Given the description of an element on the screen output the (x, y) to click on. 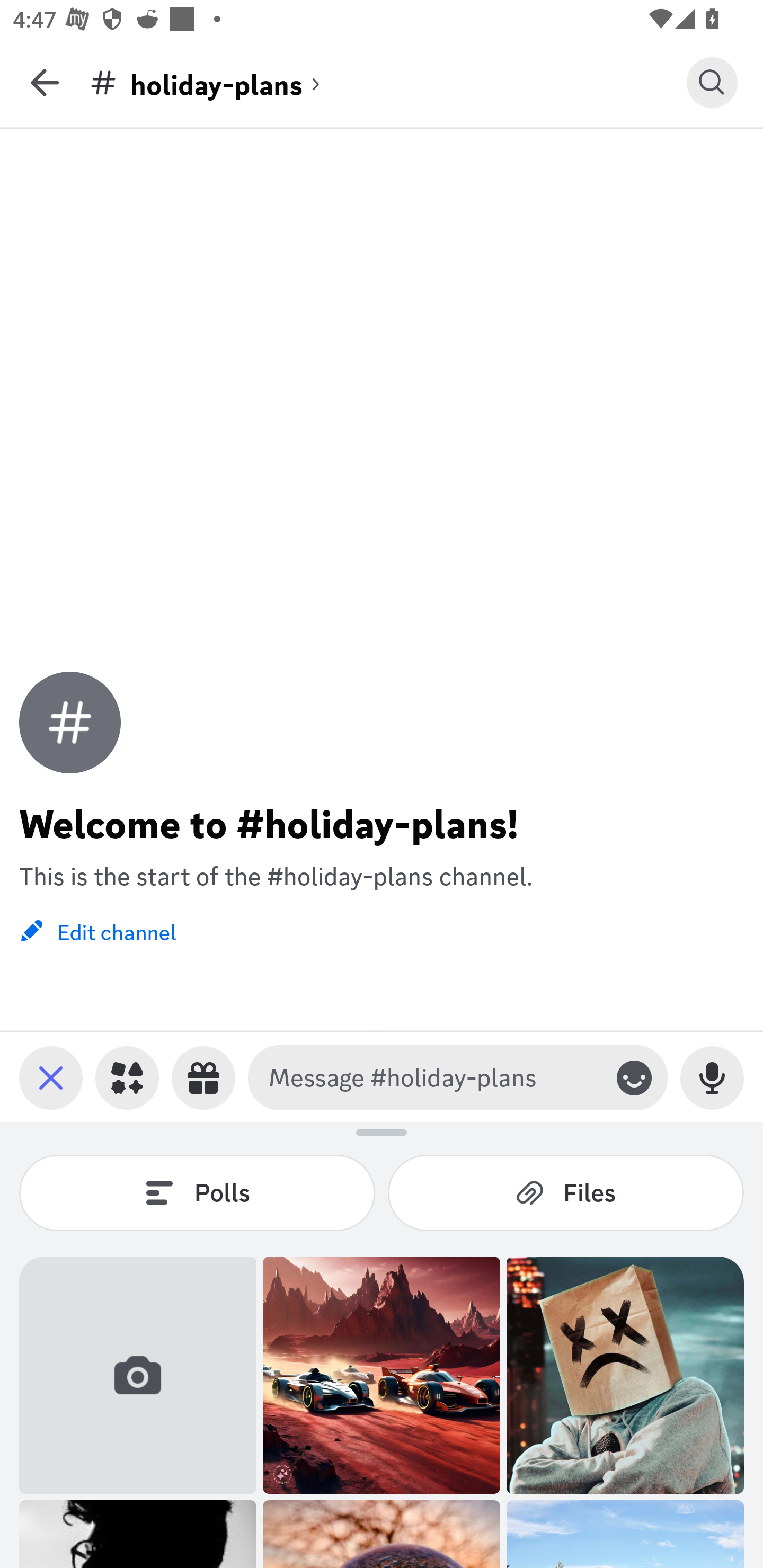
Back (44, 82)
Search (711, 82)
Edit channel (97, 930)
Message #holiday-plans Toggle emoji keyboard (457, 1077)
Toggle media keyboard (50, 1077)
Apps (126, 1077)
Send a gift (203, 1077)
Record Voice Message (711, 1077)
Toggle emoji keyboard (634, 1077)
Polls (197, 1192)
Files (565, 1192)
Camera (137, 1374)
Photo (381, 1374)
Photo (624, 1374)
